Given the description of an element on the screen output the (x, y) to click on. 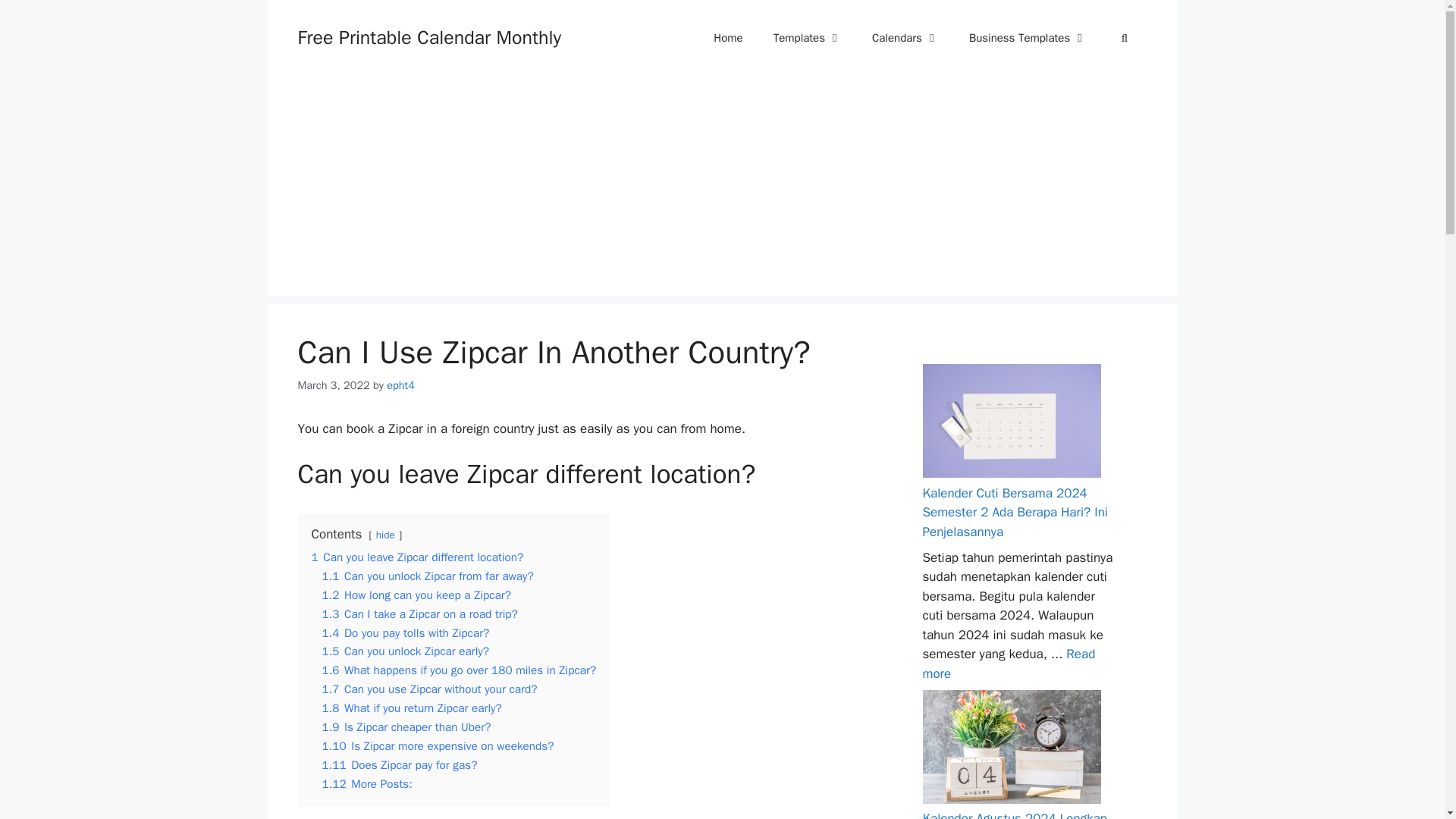
1.6 What happens if you go over 180 miles in Zipcar? (458, 670)
Calendars (905, 37)
1.7 Can you use Zipcar without your card? (429, 688)
1.5 Can you unlock Zipcar early? (404, 651)
1.4 Do you pay tolls with Zipcar? (405, 632)
Free Printable Calendar Monthly (428, 37)
1.10 Is Zipcar more expensive on weekends? (437, 745)
1.9 Is Zipcar cheaper than Uber? (405, 726)
Home (727, 37)
1.2 How long can you keep a Zipcar? (416, 595)
Templates (807, 37)
1 Can you leave Zipcar different location? (416, 557)
1.8 What if you return Zipcar early? (410, 708)
